Given the description of an element on the screen output the (x, y) to click on. 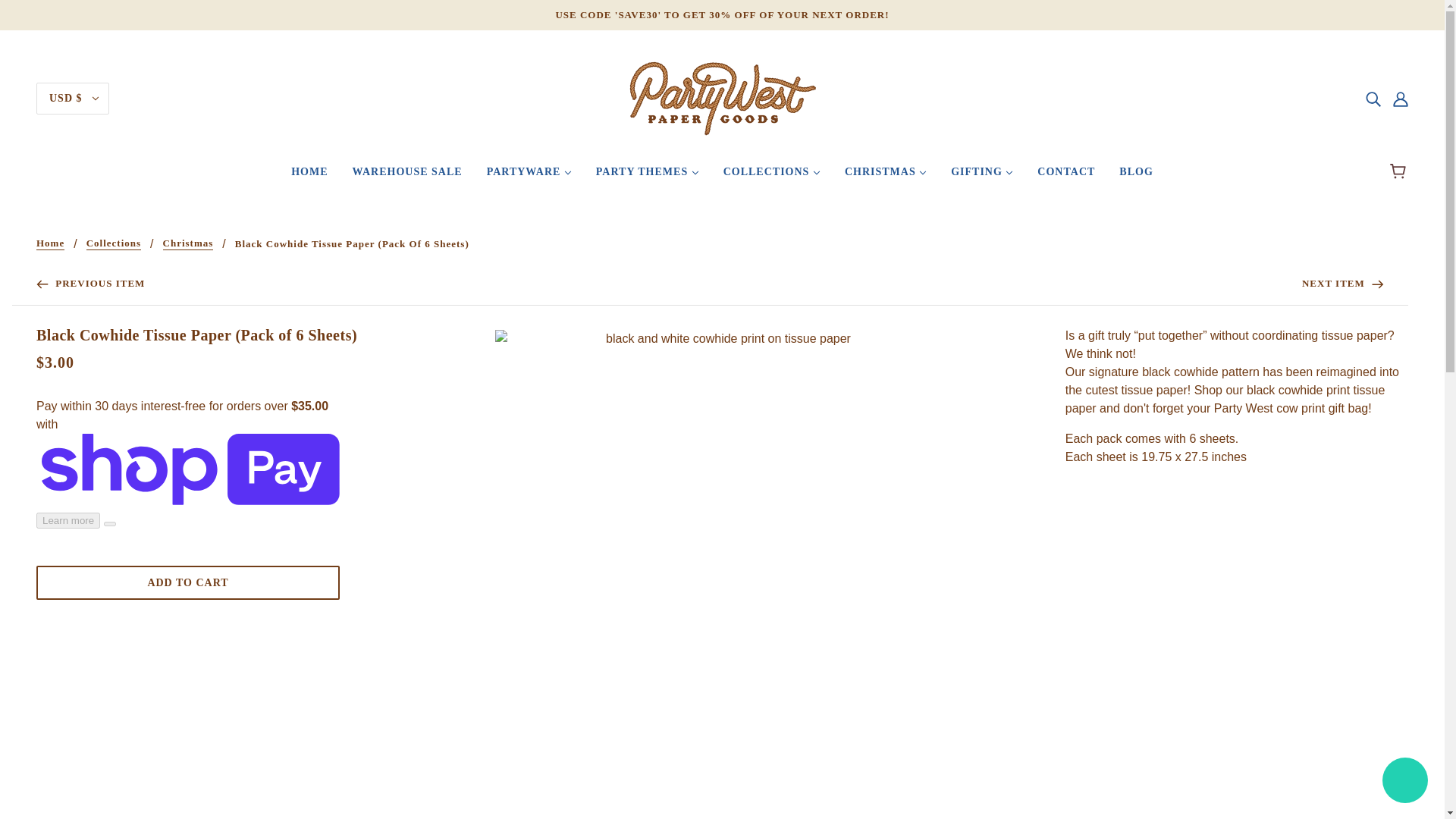
COLLECTIONS (771, 177)
WAREHOUSE SALE (407, 177)
CHRISTMAS (885, 177)
HOME (309, 177)
Shopify online store chat (1404, 781)
Party West (721, 97)
PARTY THEMES (647, 177)
PARTYWARE (528, 177)
Bandana Gift Wrap (1342, 283)
GIFTING (982, 177)
